Given the description of an element on the screen output the (x, y) to click on. 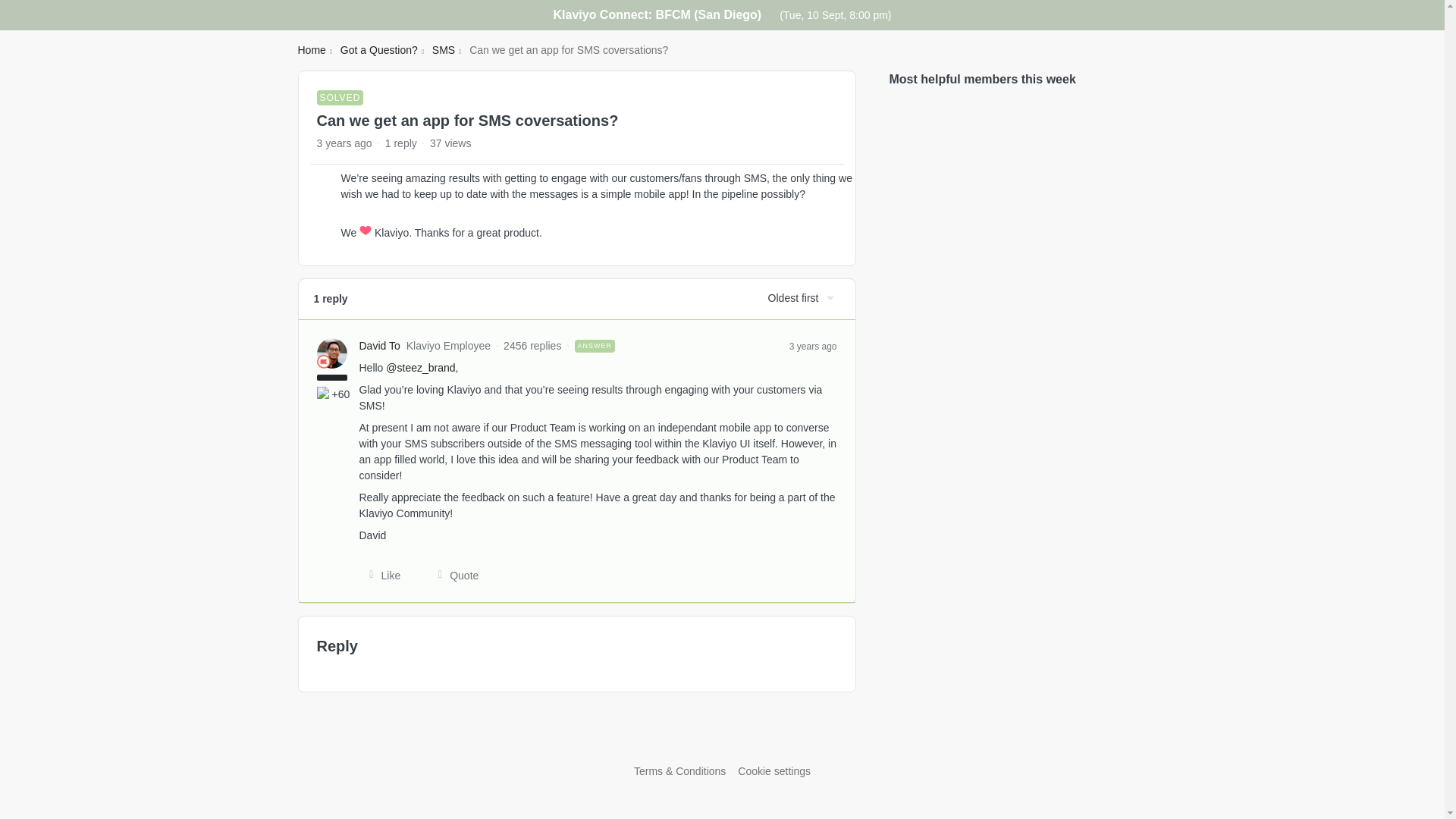
Home (310, 50)
Visit Gainsight.com (722, 739)
Klaviyo Employee (323, 361)
David To (379, 345)
Like (380, 574)
Cookie settings (774, 770)
David To (379, 345)
1 reply (400, 143)
Quote (453, 574)
3 years ago (813, 345)
